Given the description of an element on the screen output the (x, y) to click on. 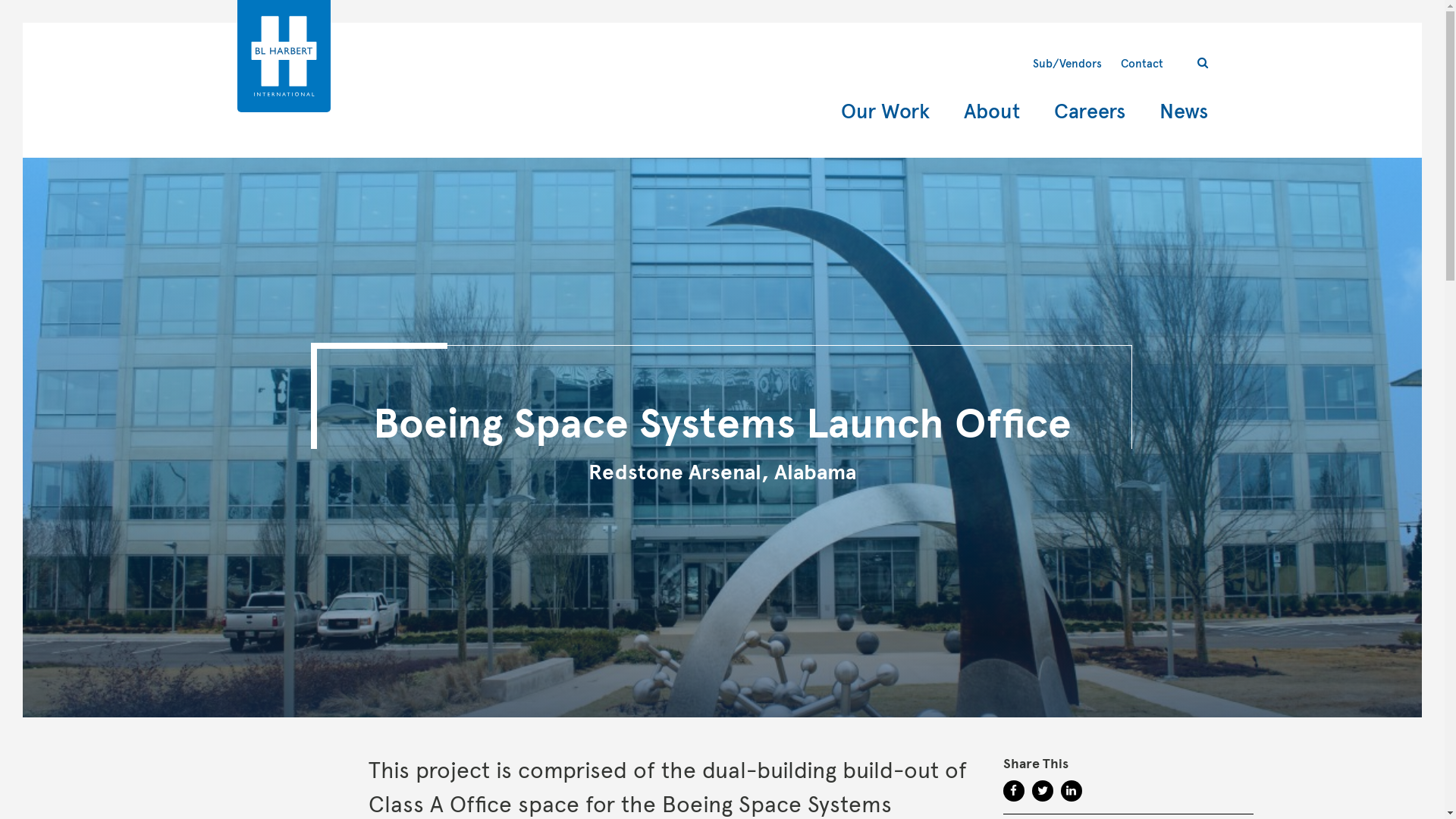
About (990, 111)
News (1182, 111)
Careers (1089, 111)
Boeing Space Systems Launch Office (721, 423)
Our Work (884, 111)
Contact (1142, 63)
